Given the description of an element on the screen output the (x, y) to click on. 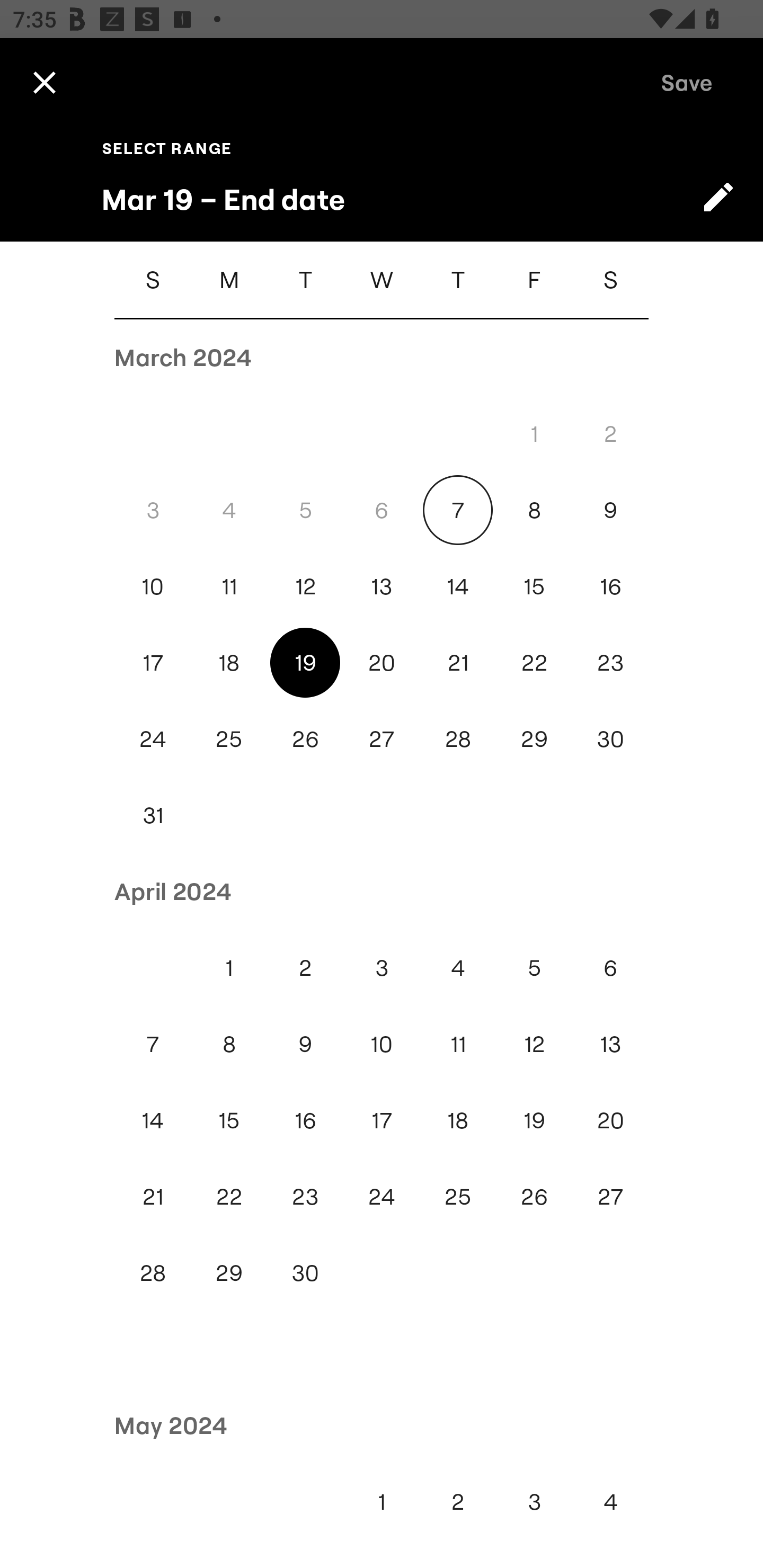
Cancel (44, 81)
Save (686, 81)
Switch to text input mode (718, 196)
1 Fri, Mar 1 (533, 433)
2 Sat, Mar 2 (610, 433)
3 Sun, Mar 3 (152, 509)
4 Mon, Mar 4 (228, 509)
5 Tue, Mar 5 (305, 509)
6 Wed, Mar 6 (381, 509)
7 Thu, Mar 7 (457, 509)
8 Fri, Mar 8 (533, 509)
9 Sat, Mar 9 (610, 509)
10 Sun, Mar 10 (152, 586)
11 Mon, Mar 11 (228, 586)
12 Tue, Mar 12 (305, 586)
13 Wed, Mar 13 (381, 586)
14 Thu, Mar 14 (457, 586)
15 Fri, Mar 15 (533, 586)
16 Sat, Mar 16 (610, 586)
17 Sun, Mar 17 (152, 662)
18 Mon, Mar 18 (228, 662)
19 Tue, Mar 19 (305, 662)
20 Wed, Mar 20 (381, 662)
21 Thu, Mar 21 (457, 662)
22 Fri, Mar 22 (533, 662)
23 Sat, Mar 23 (610, 662)
24 Sun, Mar 24 (152, 738)
25 Mon, Mar 25 (228, 738)
26 Tue, Mar 26 (305, 738)
27 Wed, Mar 27 (381, 738)
28 Thu, Mar 28 (457, 738)
29 Fri, Mar 29 (533, 738)
30 Sat, Mar 30 (610, 738)
31 Sun, Mar 31 (152, 814)
1 Mon, Apr 1 (228, 967)
2 Tue, Apr 2 (305, 967)
3 Wed, Apr 3 (381, 967)
4 Thu, Apr 4 (457, 967)
5 Fri, Apr 5 (533, 967)
6 Sat, Apr 6 (610, 967)
7 Sun, Apr 7 (152, 1043)
8 Mon, Apr 8 (228, 1043)
9 Tue, Apr 9 (305, 1043)
10 Wed, Apr 10 (381, 1043)
11 Thu, Apr 11 (457, 1043)
12 Fri, Apr 12 (533, 1043)
13 Sat, Apr 13 (610, 1043)
14 Sun, Apr 14 (152, 1119)
15 Mon, Apr 15 (228, 1119)
16 Tue, Apr 16 (305, 1119)
17 Wed, Apr 17 (381, 1119)
18 Thu, Apr 18 (457, 1119)
19 Fri, Apr 19 (533, 1119)
20 Sat, Apr 20 (610, 1119)
21 Sun, Apr 21 (152, 1196)
22 Mon, Apr 22 (228, 1196)
23 Tue, Apr 23 (305, 1196)
24 Wed, Apr 24 (381, 1196)
25 Thu, Apr 25 (457, 1196)
26 Fri, Apr 26 (533, 1196)
27 Sat, Apr 27 (610, 1196)
28 Sun, Apr 28 (152, 1272)
29 Mon, Apr 29 (228, 1272)
30 Tue, Apr 30 (305, 1272)
1 Wed, May 1 (381, 1500)
2 Thu, May 2 (457, 1500)
3 Fri, May 3 (533, 1500)
4 Sat, May 4 (610, 1500)
